Given the description of an element on the screen output the (x, y) to click on. 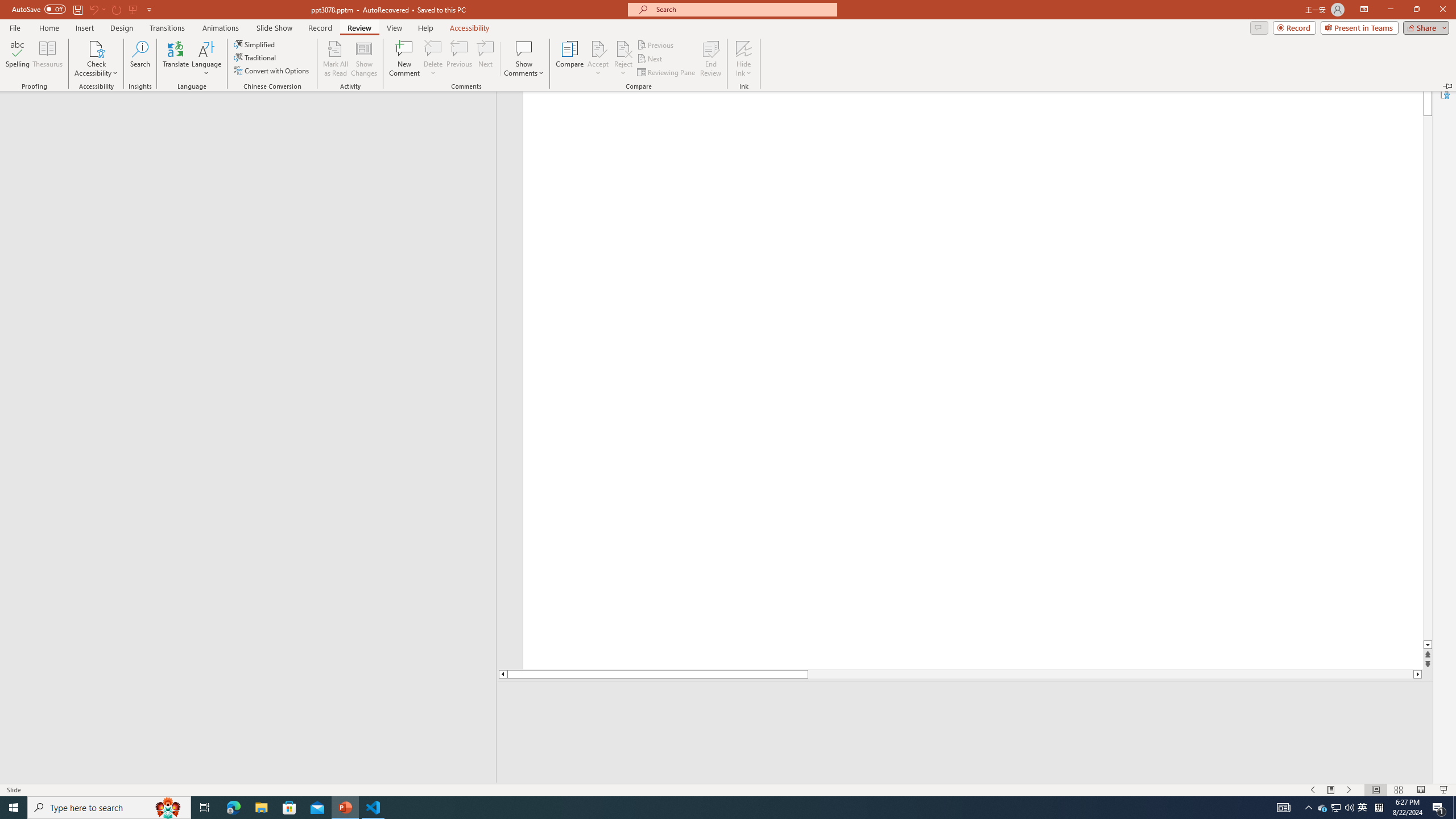
Action Center, 1 new notification (1439, 807)
Tray Input Indicator - Chinese (Simplified, China) (1378, 807)
Slide Show Next On (1349, 790)
Show desktop (1454, 807)
Task View (204, 807)
